Given the description of an element on the screen output the (x, y) to click on. 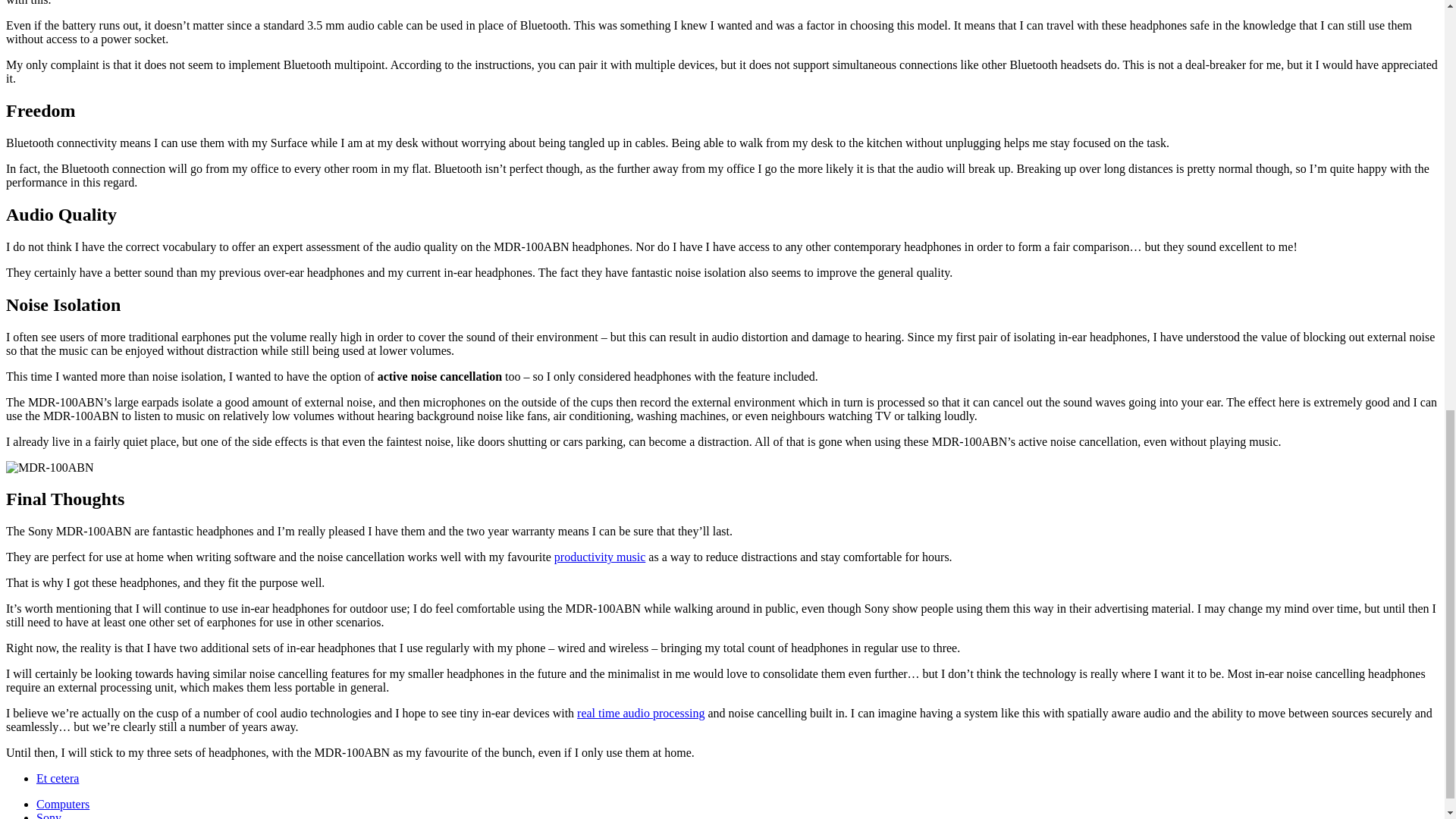
productivity music (599, 556)
real time audio processing (640, 712)
Et cetera (57, 778)
Computers (62, 803)
